Given the description of an element on the screen output the (x, y) to click on. 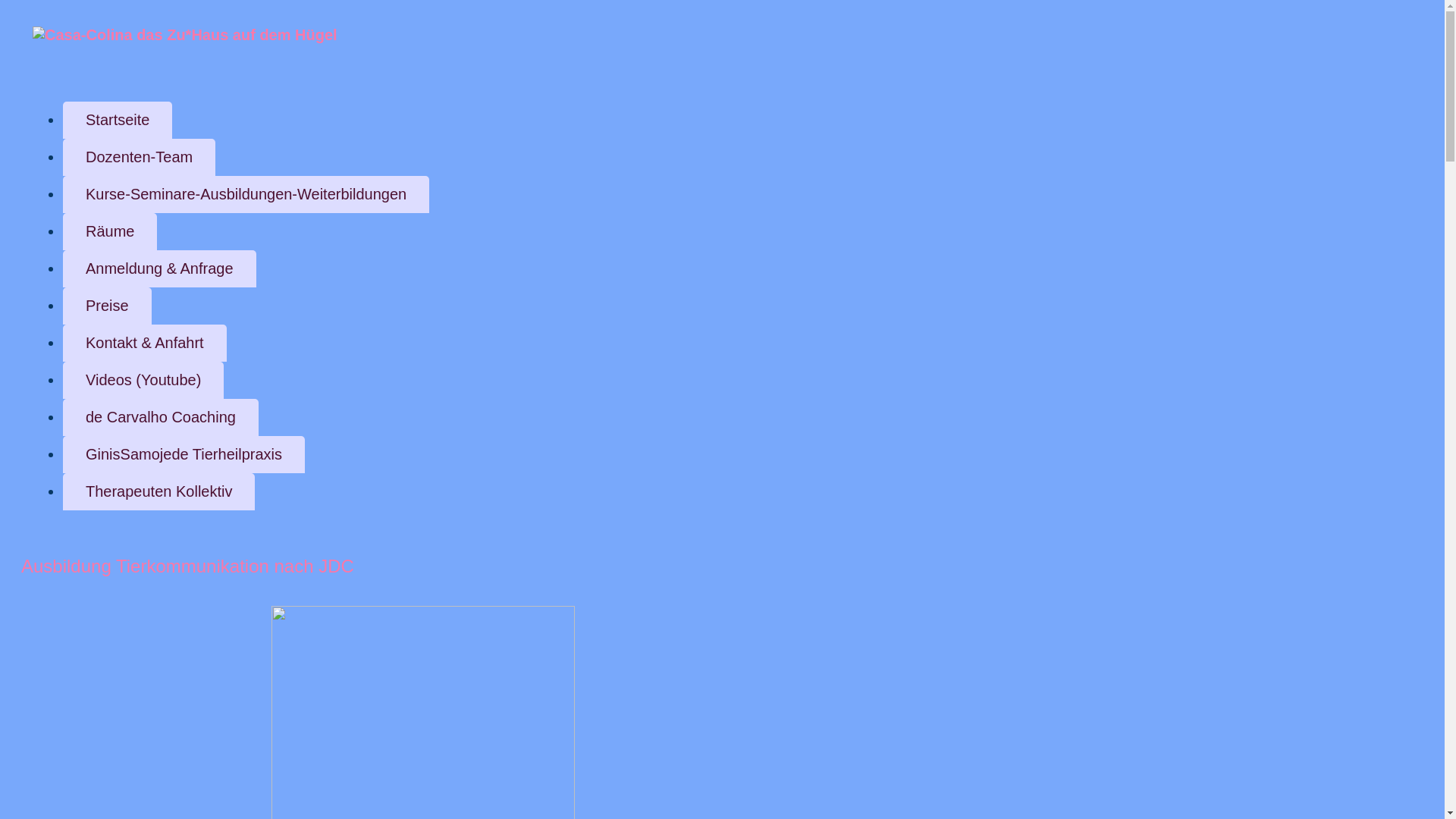
Dozenten-Team Element type: text (138, 156)
Therapeuten Kollektiv Element type: text (158, 491)
Preise Element type: text (106, 305)
Videos (Youtube) Element type: text (142, 379)
Startseite Element type: text (117, 119)
GinisSamojede Tierheilpraxis Element type: text (183, 454)
Kontakt & Anfahrt Element type: text (144, 342)
Anmeldung & Anfrage Element type: text (159, 268)
Kurse-Seminare-Ausbildungen-Weiterbildungen Element type: text (245, 194)
de Carvalho Coaching Element type: text (160, 417)
